Given the description of an element on the screen output the (x, y) to click on. 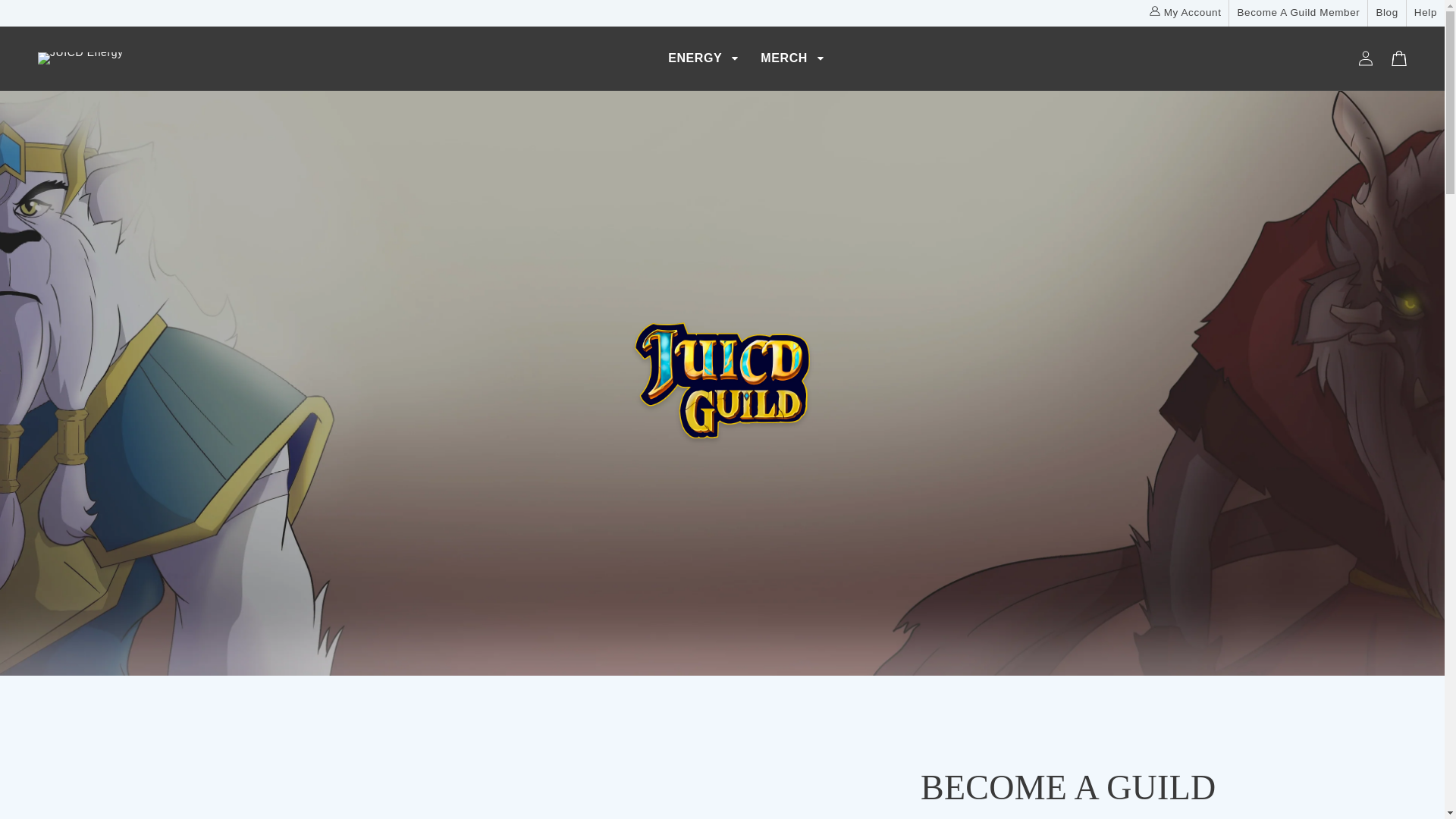
Cart (1398, 58)
Help (1425, 13)
Become A Guild Member (1297, 13)
Skip to content (45, 16)
Log in (1365, 58)
My Account (1185, 13)
Blog (1386, 13)
